Given the description of an element on the screen output the (x, y) to click on. 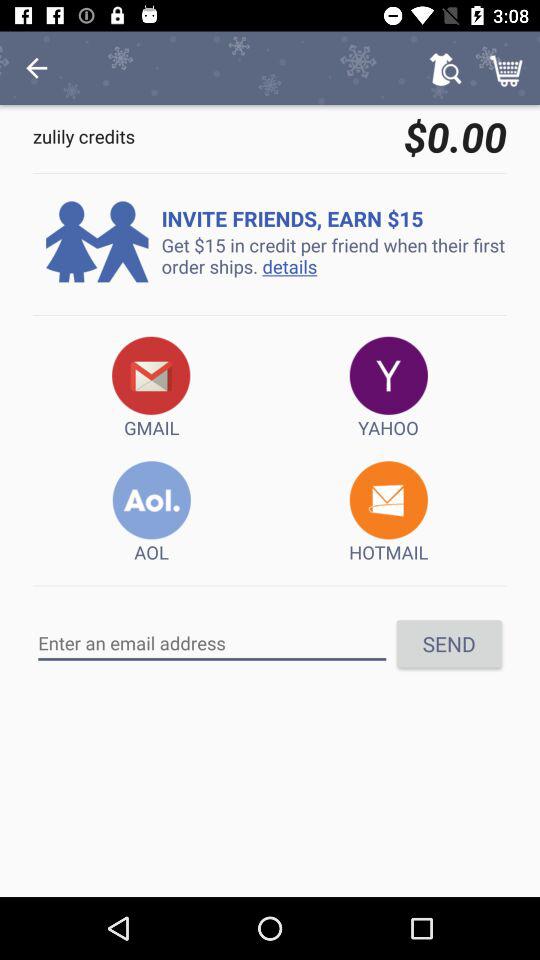
scroll until aol icon (151, 512)
